Given the description of an element on the screen output the (x, y) to click on. 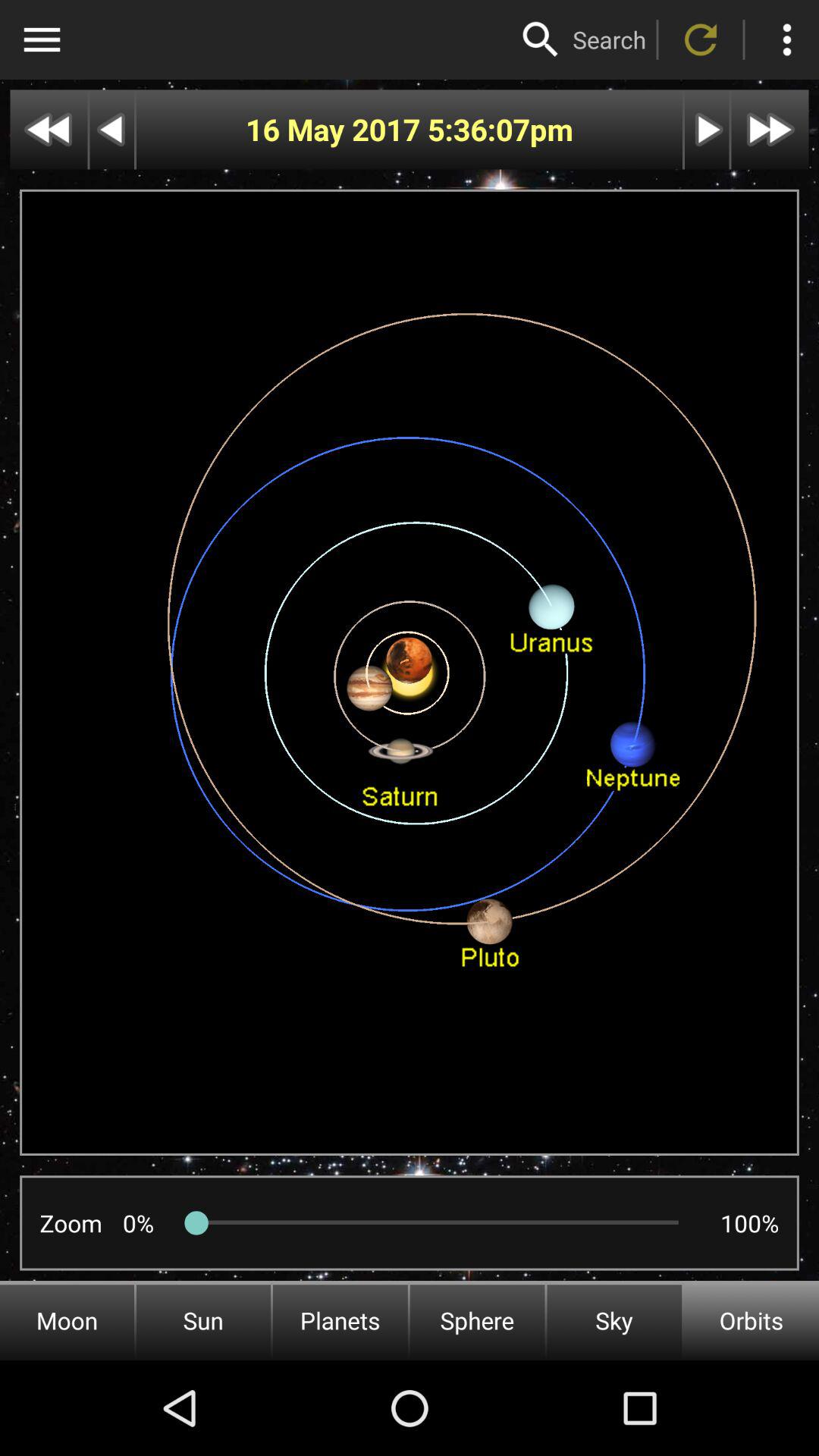
tap item next to 5:36:07 app (336, 129)
